Given the description of an element on the screen output the (x, y) to click on. 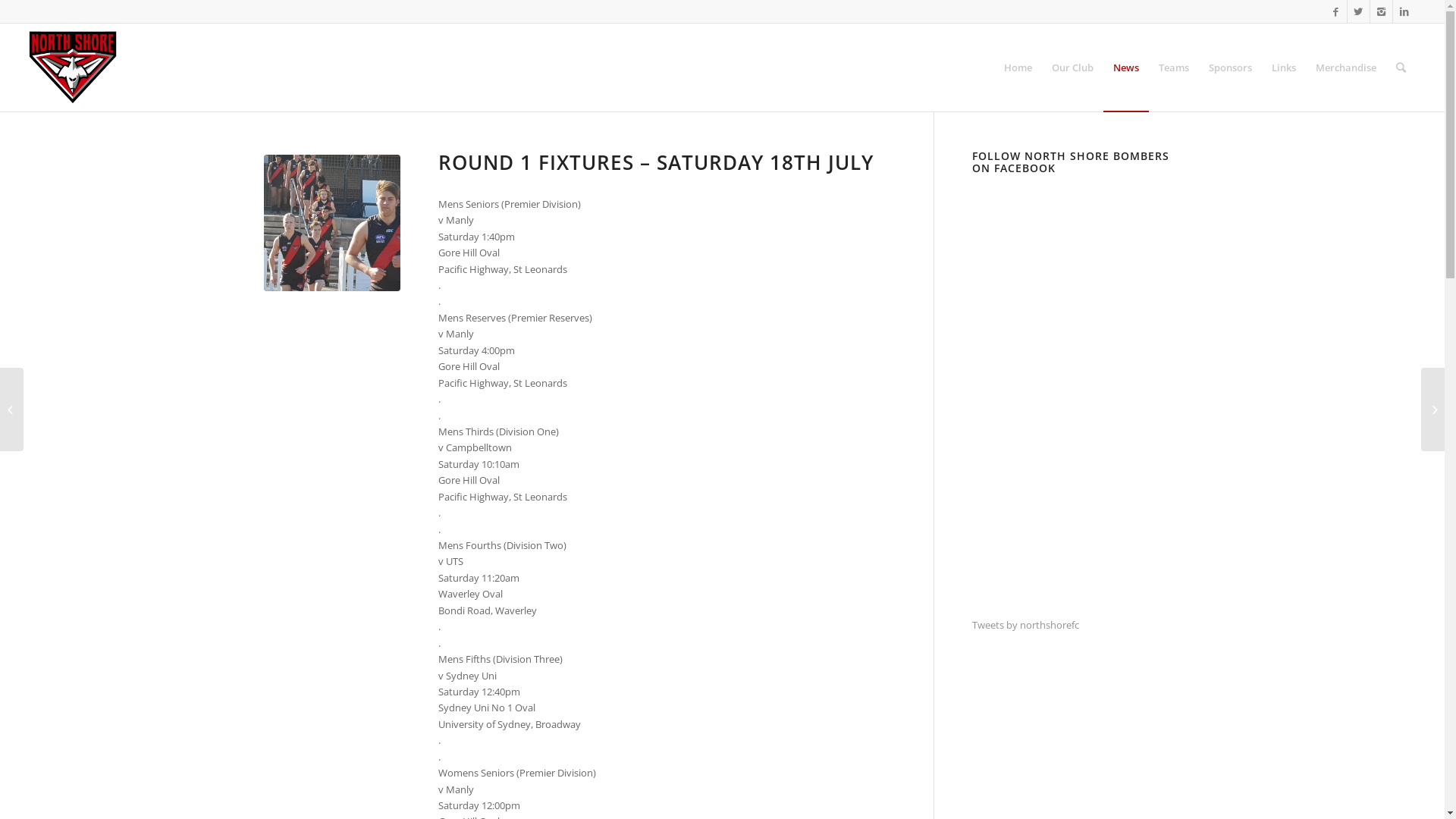
Tweets by northshorefc Element type: text (1025, 624)
Home Element type: text (1017, 67)
Teams Element type: text (1173, 67)
News Element type: text (1125, 67)
Merchandise Element type: text (1345, 67)
Facebook Element type: hover (1335, 11)
Sponsors Element type: text (1229, 67)
Twitter Element type: hover (1358, 11)
Our Club Element type: text (1072, 67)
Linkedin Element type: hover (1404, 11)
Instagram Element type: hover (1381, 11)
						 Element type: hover (331, 222)
Links Element type: text (1283, 67)
